Given the description of an element on the screen output the (x, y) to click on. 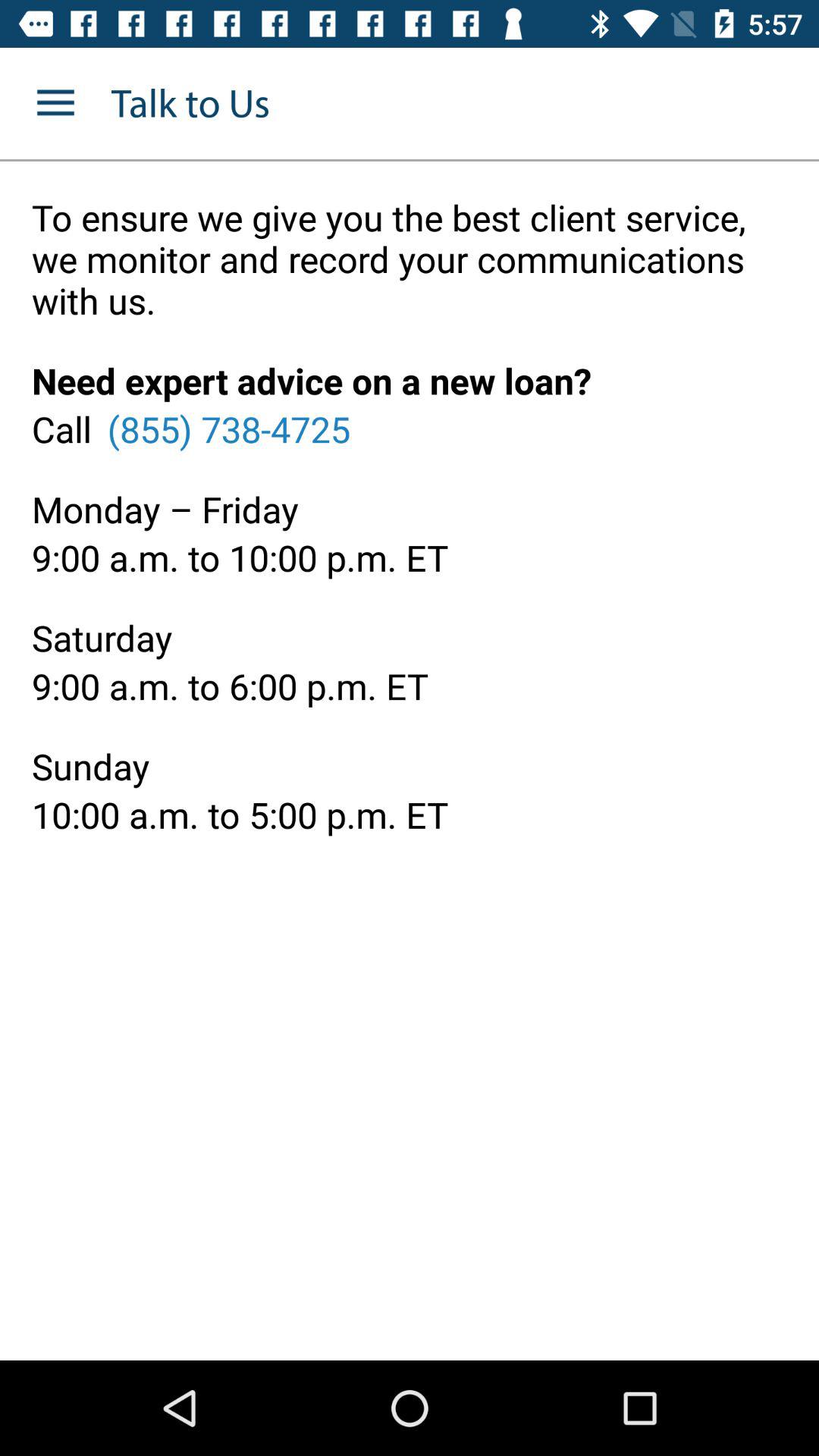
tap icon below need expert advice icon (228, 428)
